Given the description of an element on the screen output the (x, y) to click on. 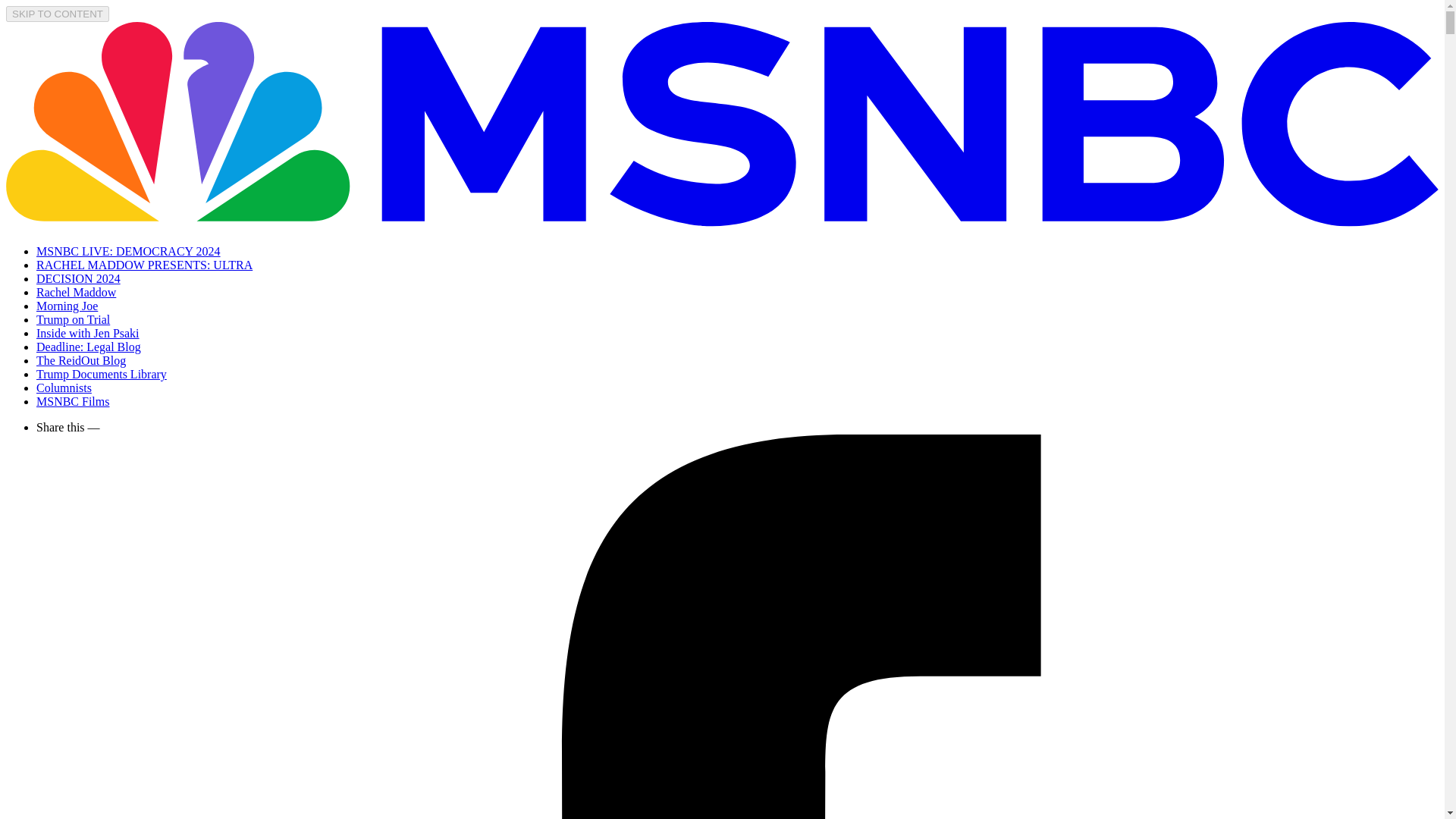
Columnists (63, 387)
Rachel Maddow (76, 291)
The ReidOut Blog (80, 359)
RACHEL MADDOW PRESENTS: ULTRA (143, 264)
Deadline: Legal Blog (88, 346)
DECISION 2024 (78, 278)
SKIP TO CONTENT (57, 13)
Morning Joe (66, 305)
Trump on Trial (73, 318)
Inside with Jen Psaki (87, 332)
MSNBC LIVE: DEMOCRACY 2024 (128, 250)
Trump Documents Library (101, 373)
MSNBC Films (72, 400)
